Given the description of an element on the screen output the (x, y) to click on. 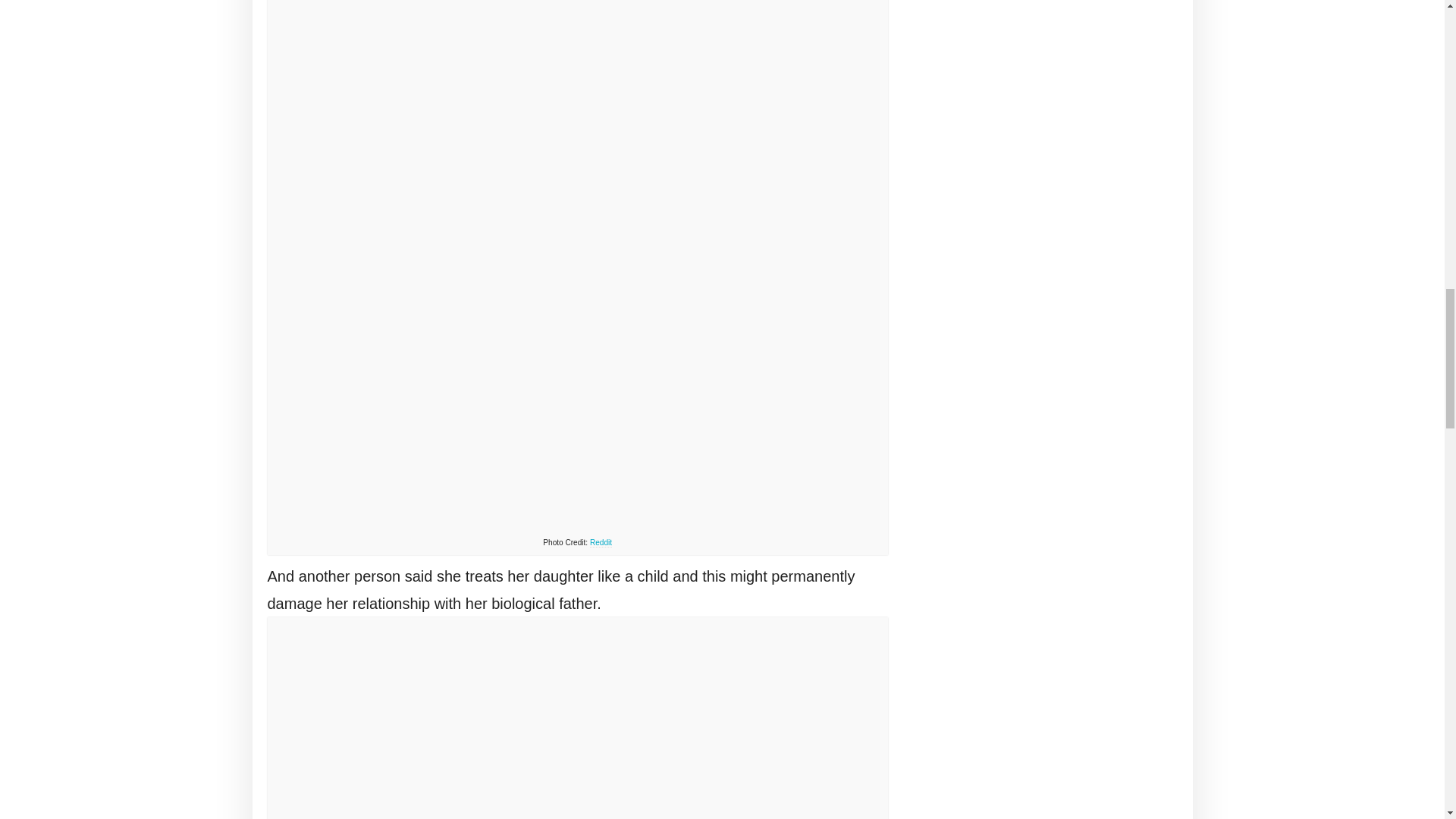
Reddit (600, 542)
